Given the description of an element on the screen output the (x, y) to click on. 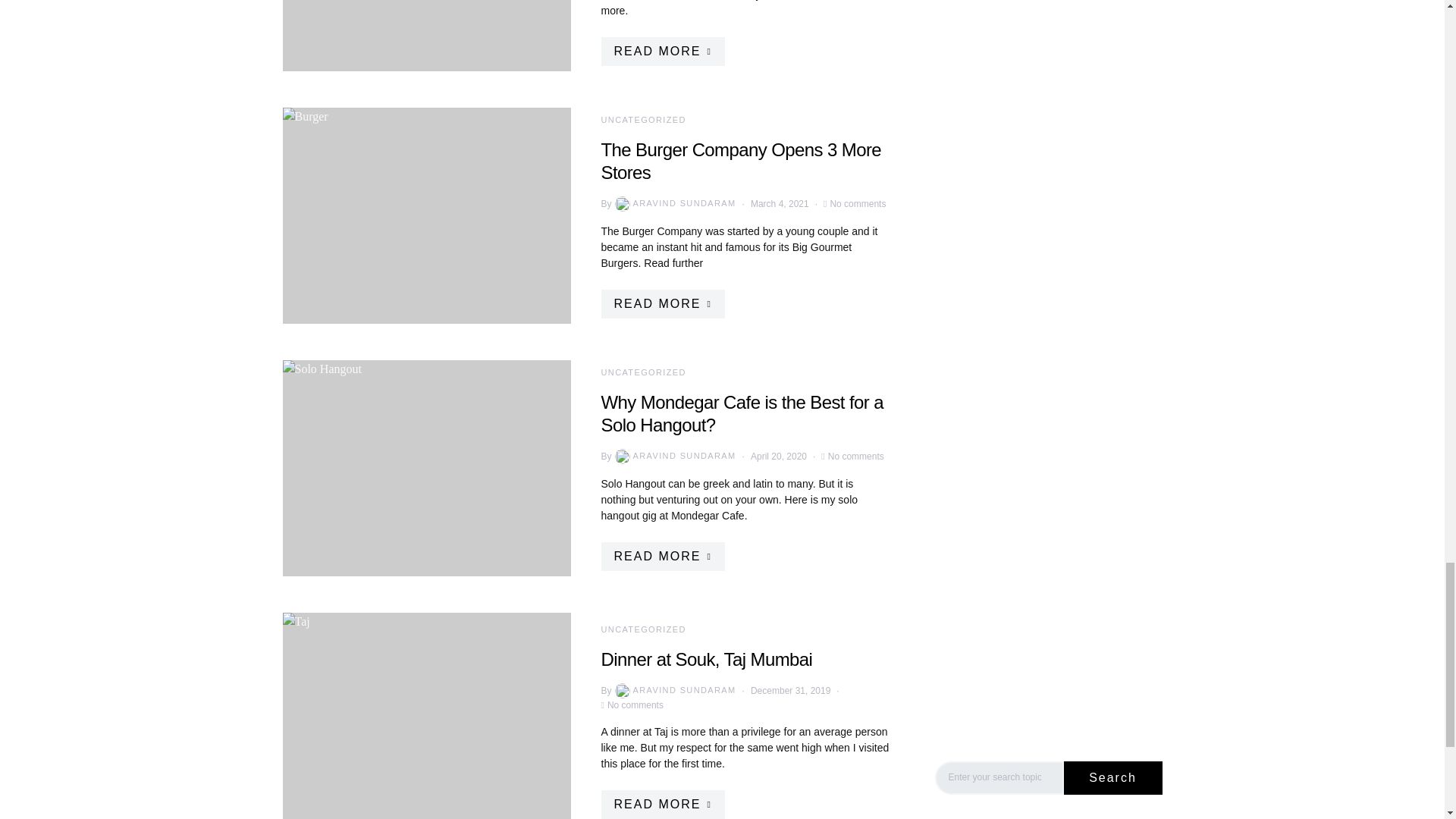
View all posts by Aravind Sundaram (673, 202)
View all posts by Aravind Sundaram (673, 456)
View all posts by Aravind Sundaram (673, 689)
